Given the description of an element on the screen output the (x, y) to click on. 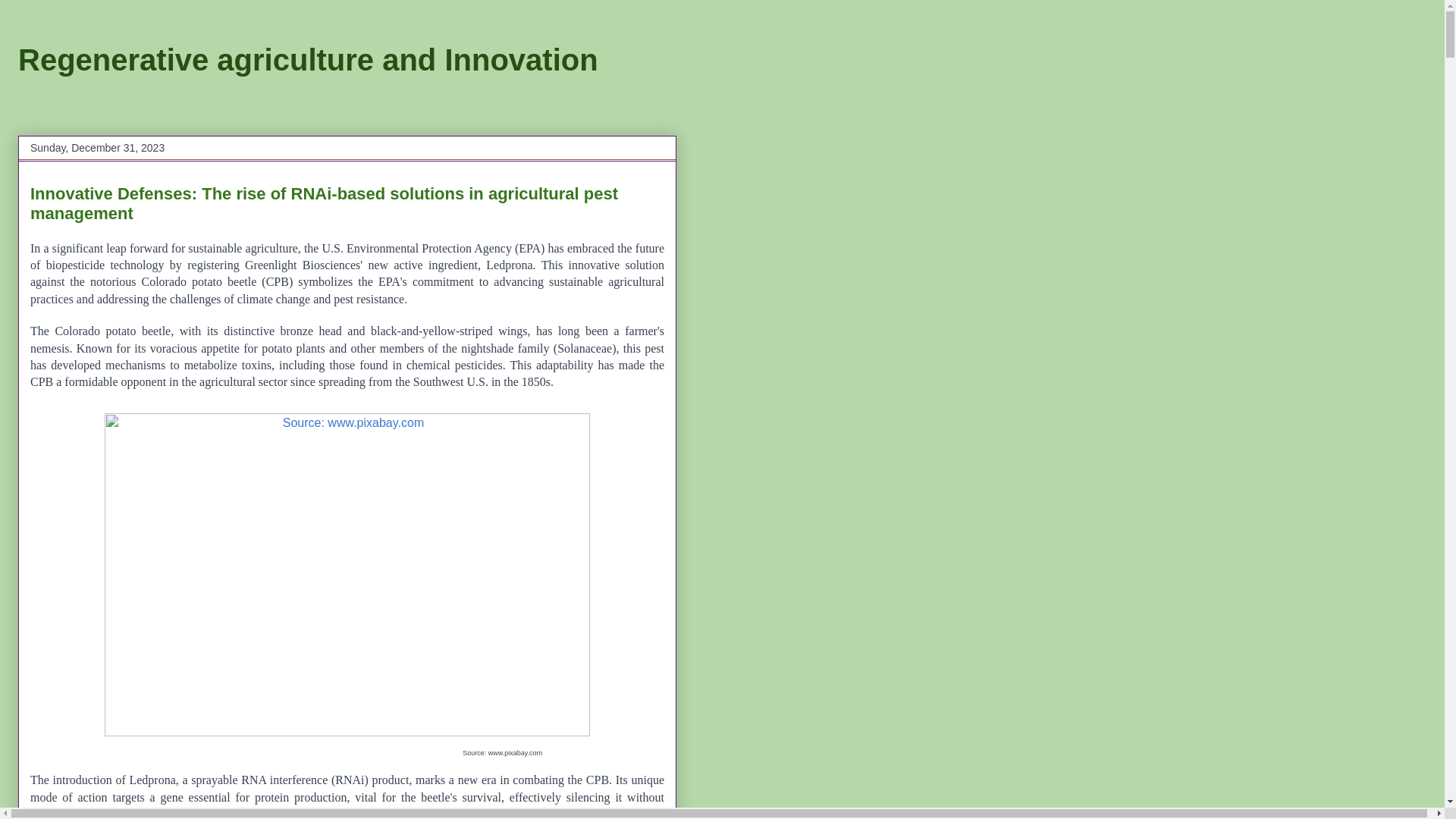
Regenerative agriculture and Innovation (307, 59)
